Given the description of an element on the screen output the (x, y) to click on. 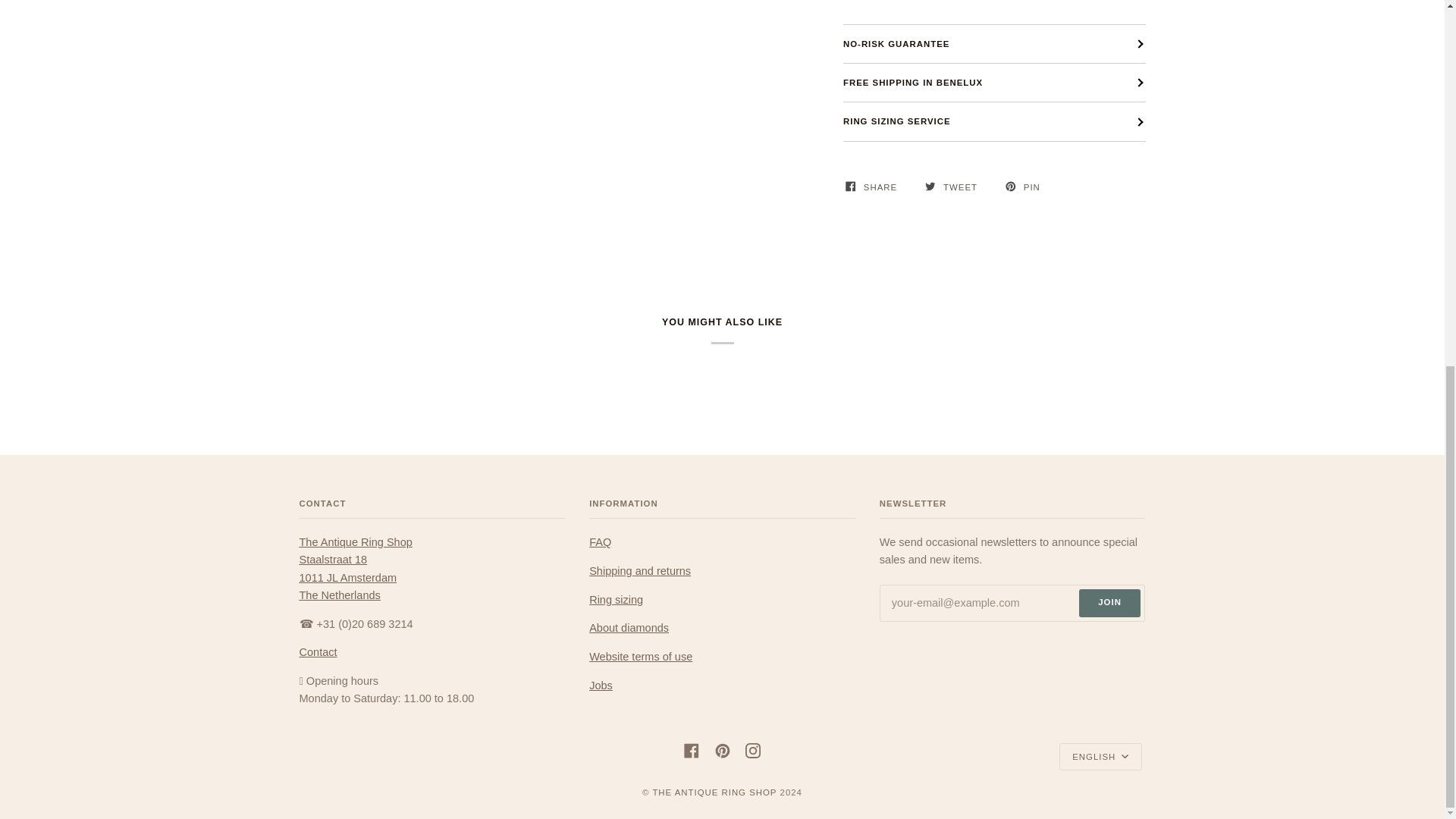
Instagram (752, 749)
Pinterest (721, 749)
Facebook (691, 749)
